Given the description of an element on the screen output the (x, y) to click on. 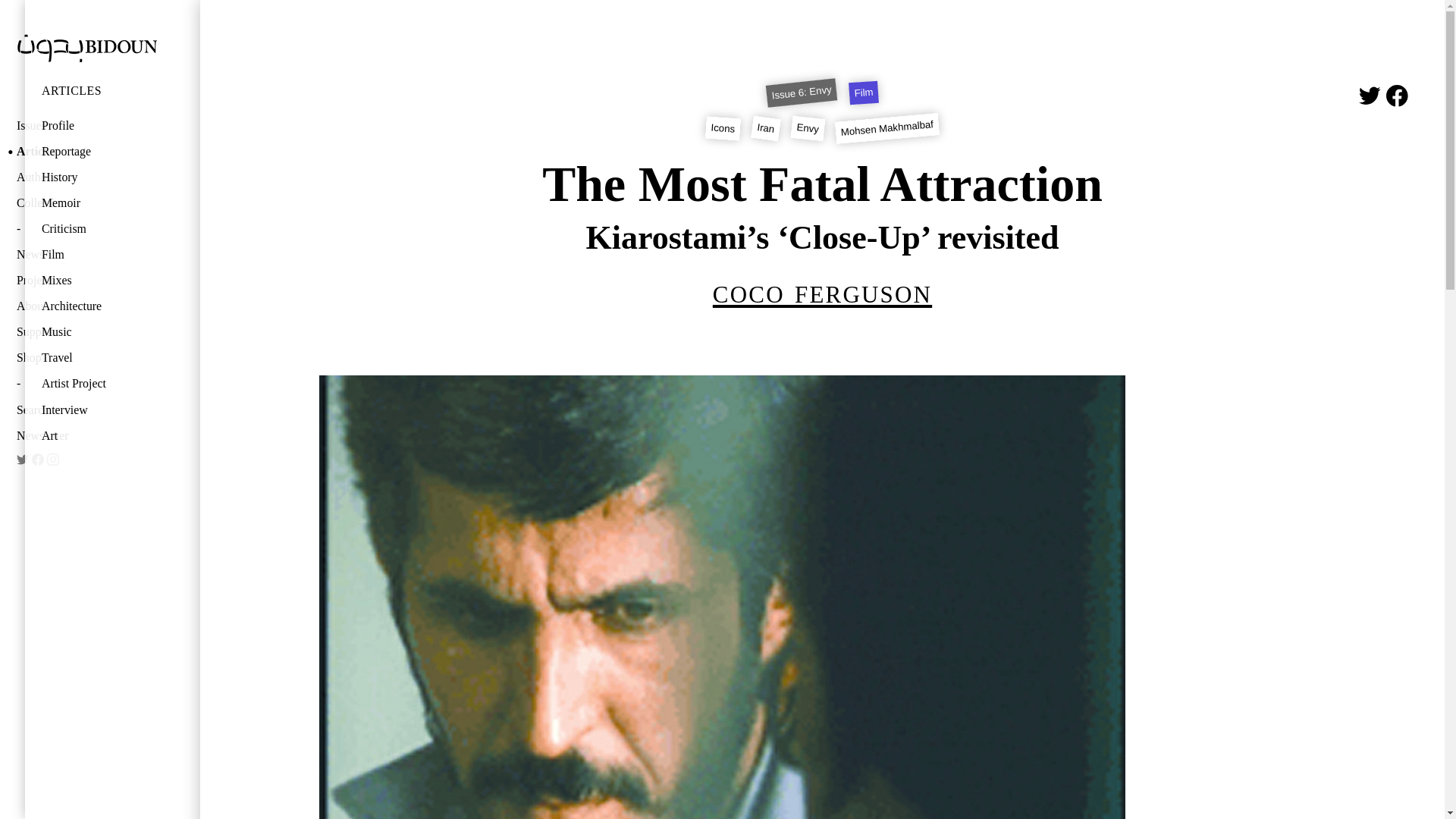
Art (100, 435)
Travel (100, 357)
History (100, 177)
About (74, 306)
Issues (74, 126)
Facebook icon (1396, 95)
Artist Project (100, 383)
Facebook icon (37, 459)
Instagram (52, 459)
Search (74, 410)
Instagram icon (52, 459)
Issue 6: Envy (800, 88)
Architecture (100, 306)
Profile (100, 126)
Film (100, 254)
